Given the description of an element on the screen output the (x, y) to click on. 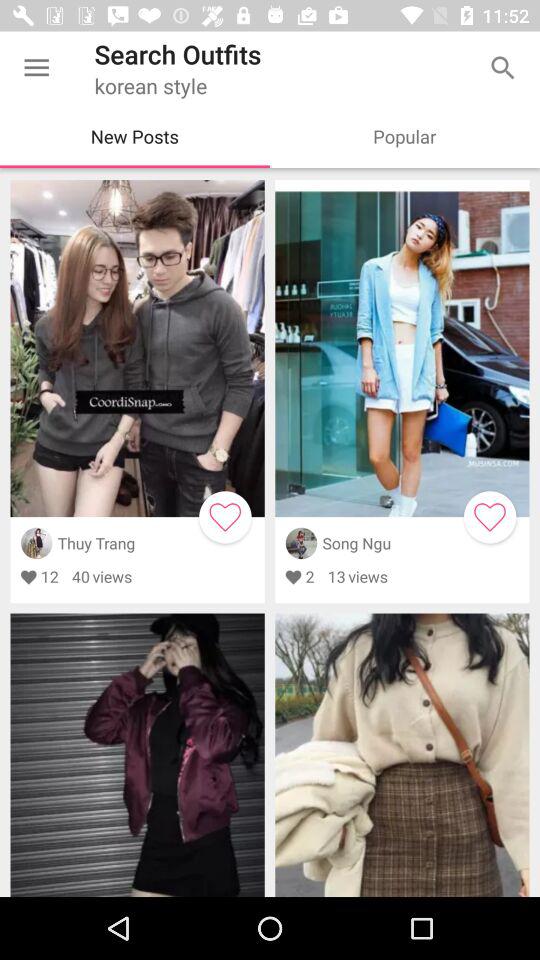
favorite item (225, 517)
